Given the description of an element on the screen output the (x, y) to click on. 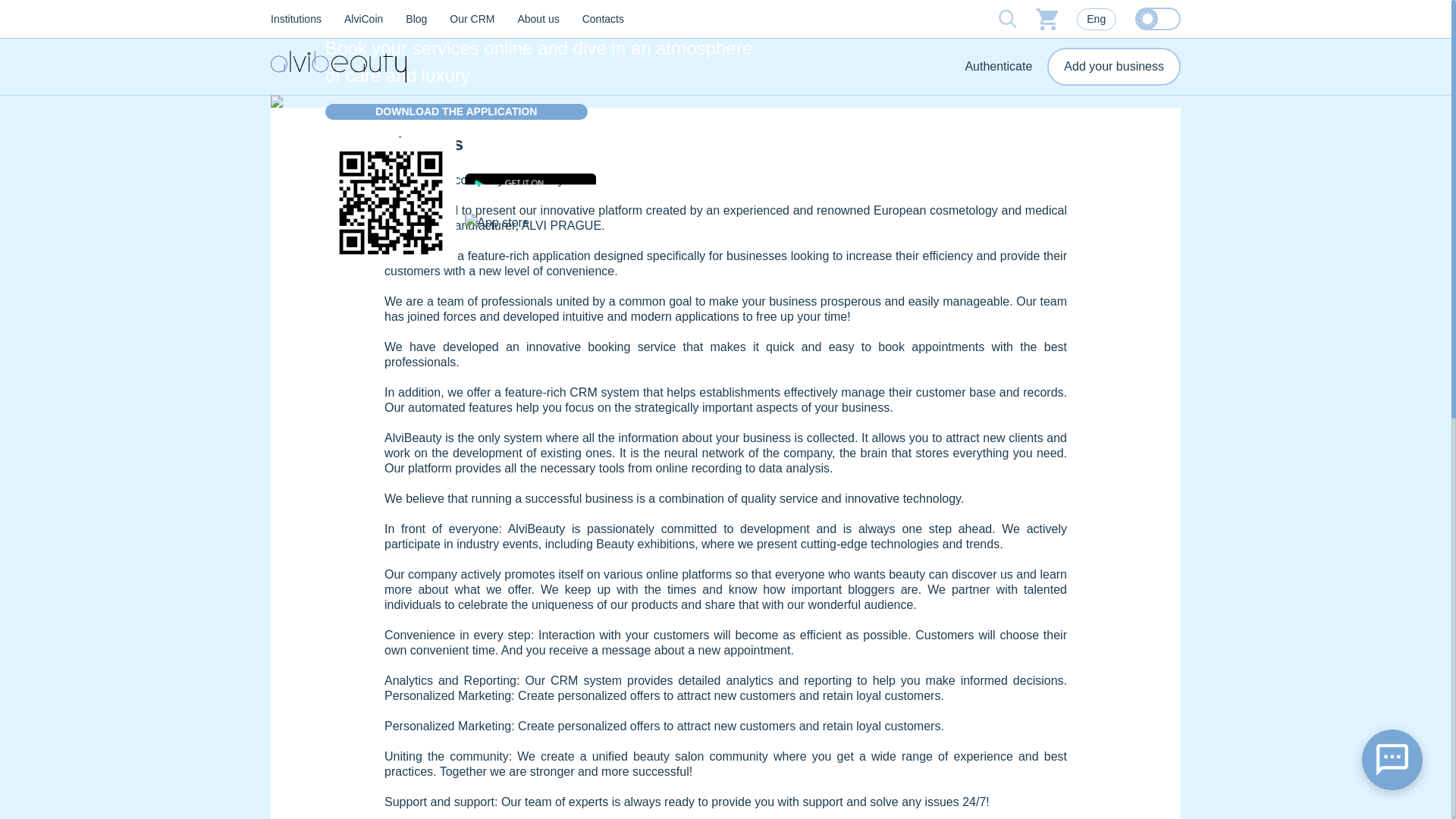
AlviCoin (362, 19)
Our CRM (472, 19)
Authenticate (997, 66)
Blog (416, 19)
Contacts (603, 19)
About us (537, 19)
Institutions (295, 19)
Add your business (1113, 66)
DOWNLOAD THE APPLICATION (456, 111)
Eng (1096, 18)
